Given the description of an element on the screen output the (x, y) to click on. 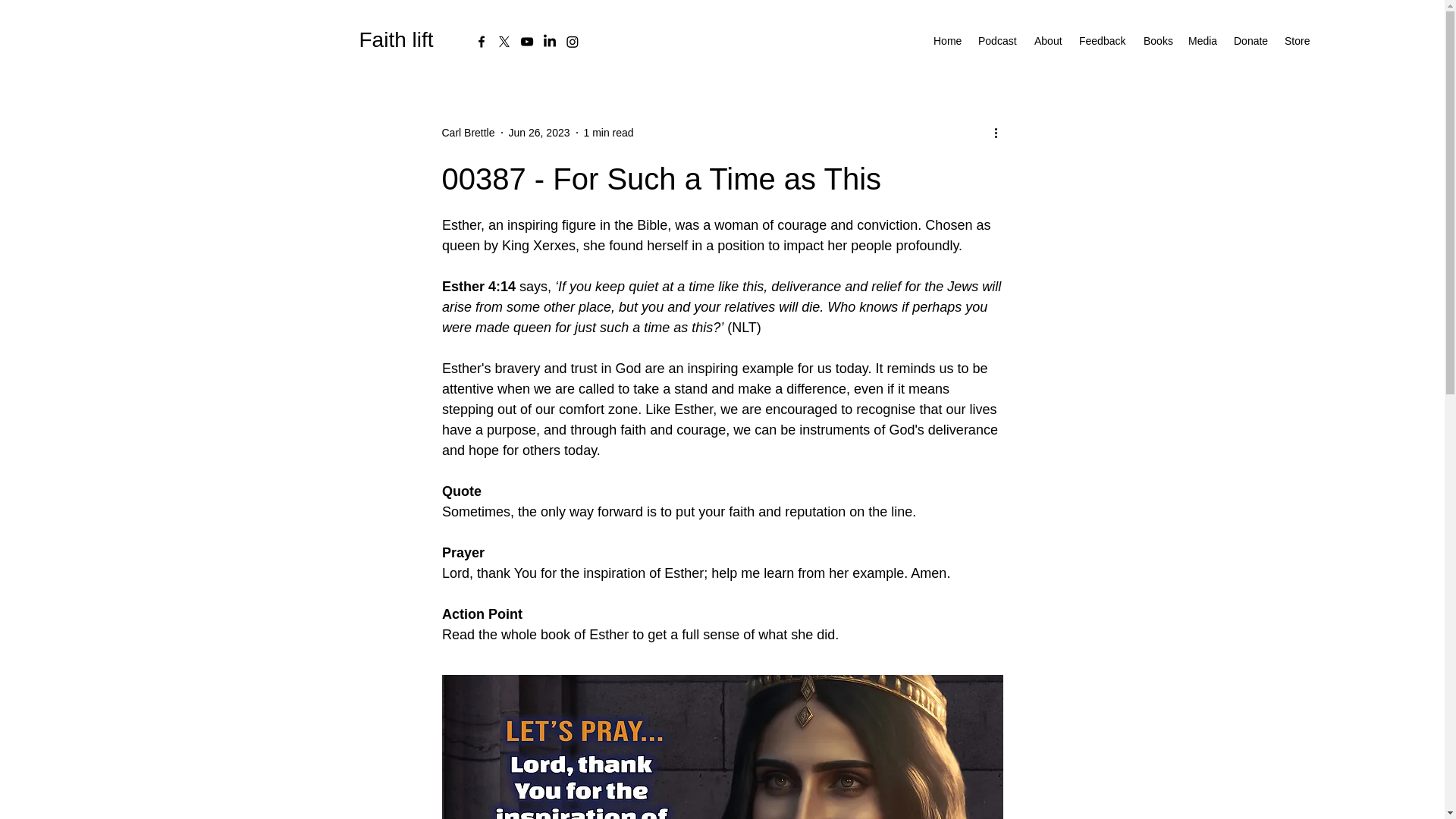
Carl Brettle (468, 132)
Carl Brettle (468, 132)
1 min read (608, 132)
Jun 26, 2023 (539, 132)
Feedback (1103, 40)
Books (1157, 40)
Store (1297, 40)
Home (948, 40)
Podcast (998, 40)
About (1048, 40)
